Given the description of an element on the screen output the (x, y) to click on. 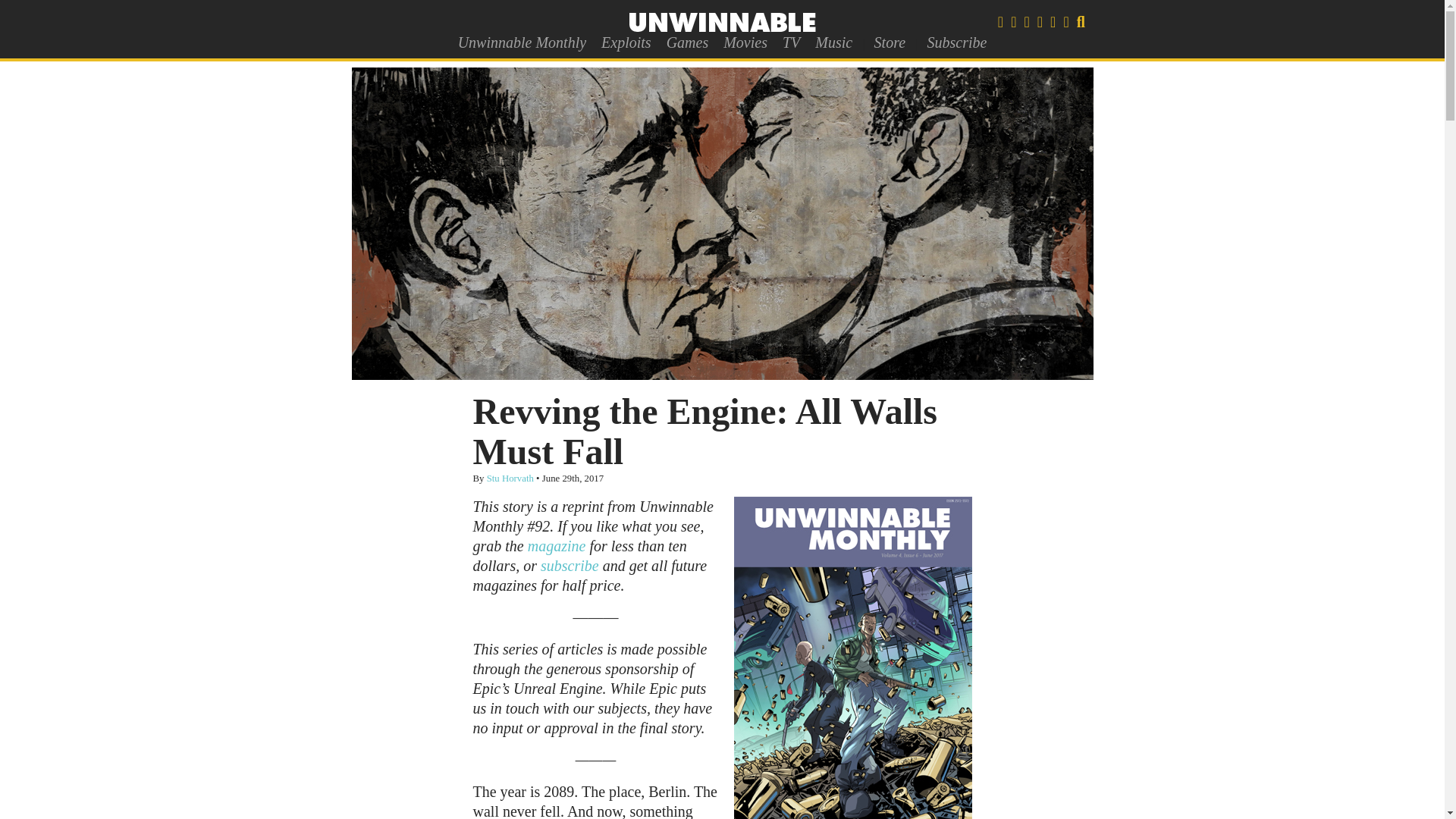
Games (687, 42)
TV (791, 42)
Exploits (626, 42)
subscribe (569, 565)
Unwinnable Monthly (521, 42)
Stu Horvath (510, 478)
magazine (556, 545)
Posts by Stu Horvath (510, 478)
Music (834, 42)
Subscribe (956, 42)
Movies (745, 42)
Store (889, 42)
